Given the description of an element on the screen output the (x, y) to click on. 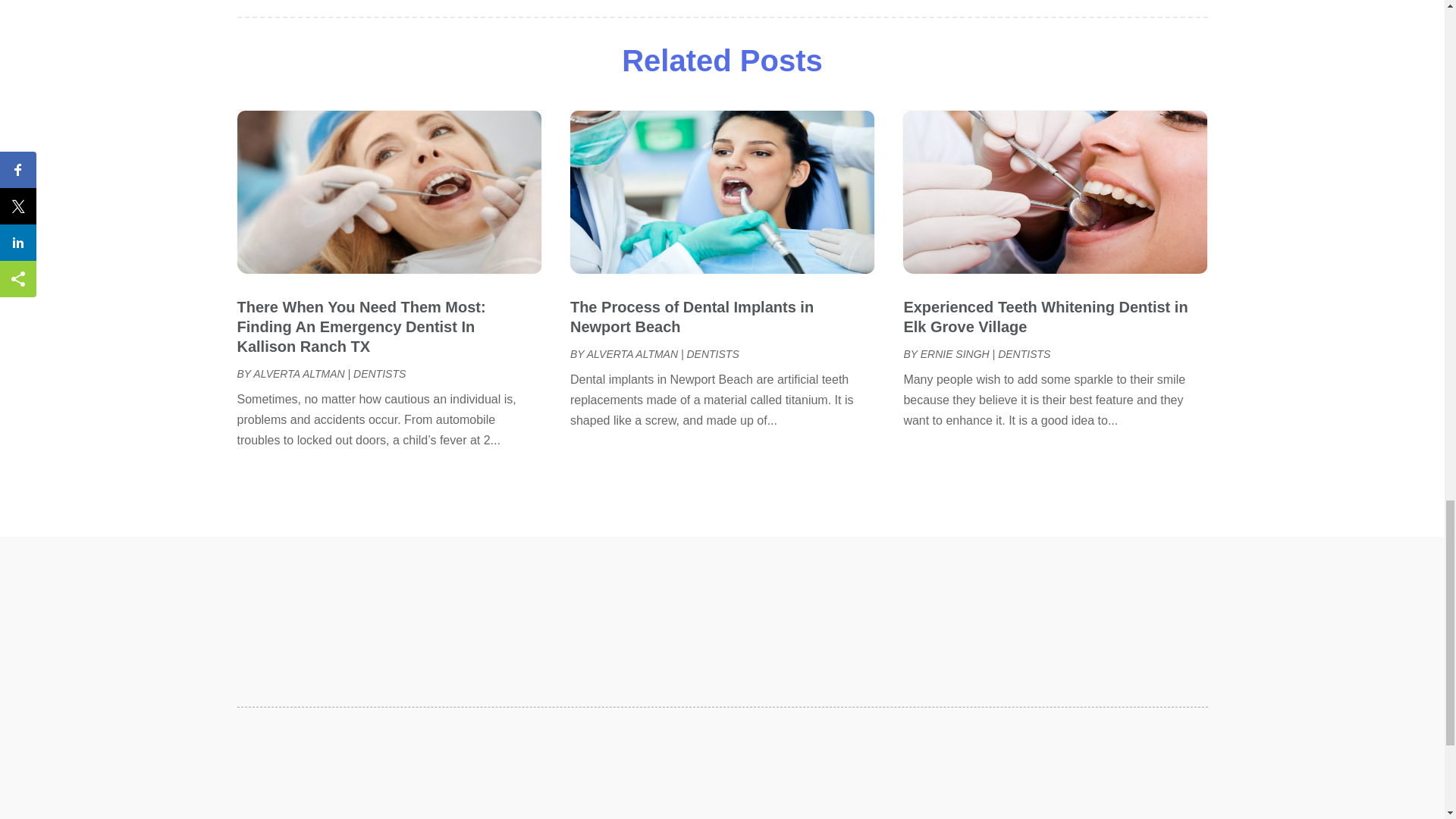
Posts by Alverta Altman (632, 354)
Posts by Alverta Altman (298, 373)
Posts by ERNIE SINGH (955, 354)
